Given the description of an element on the screen output the (x, y) to click on. 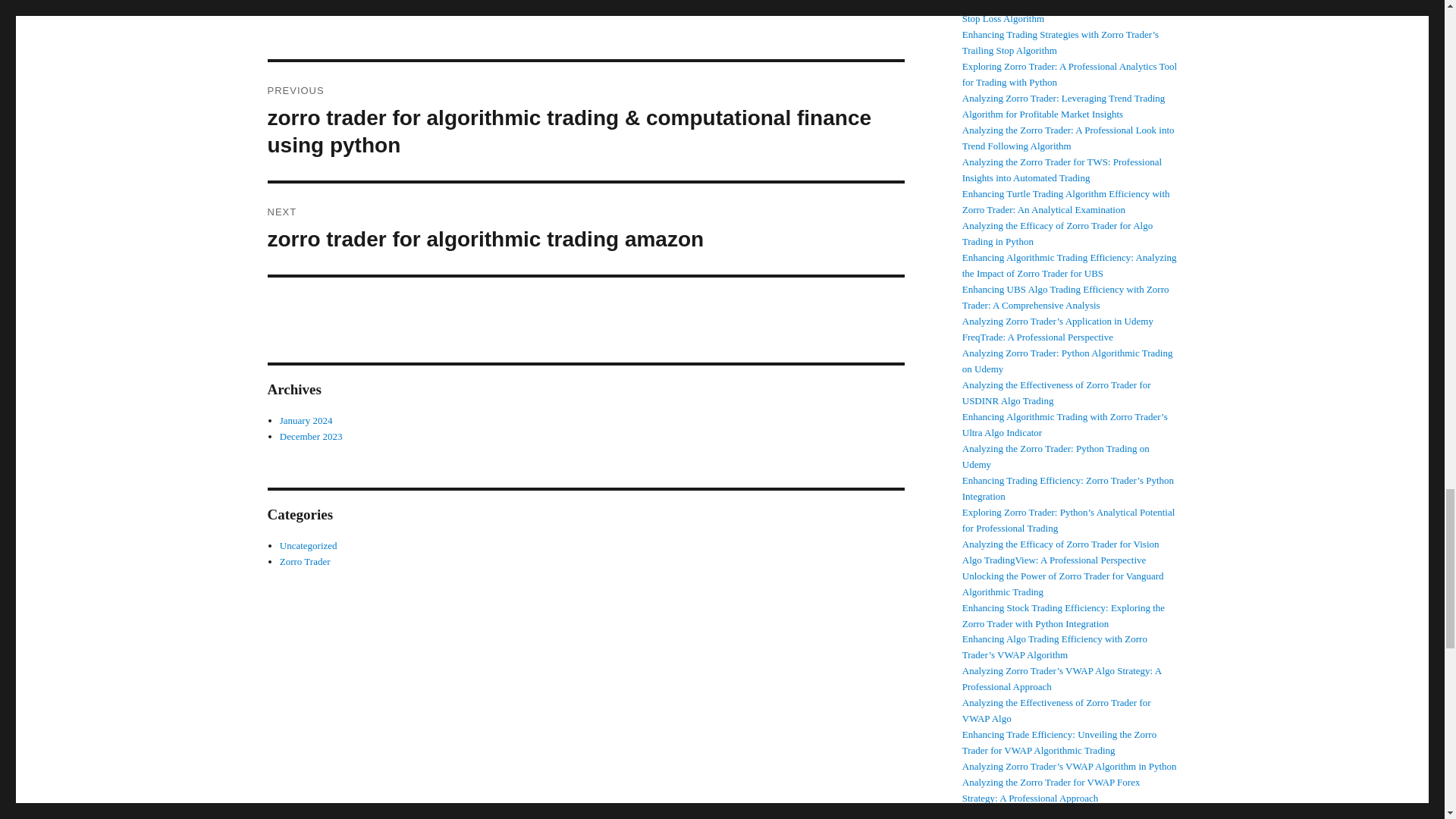
January 2024 (306, 419)
Uncategorized (308, 545)
December 2023 (585, 228)
Zorro Trader (310, 436)
